Given the description of an element on the screen output the (x, y) to click on. 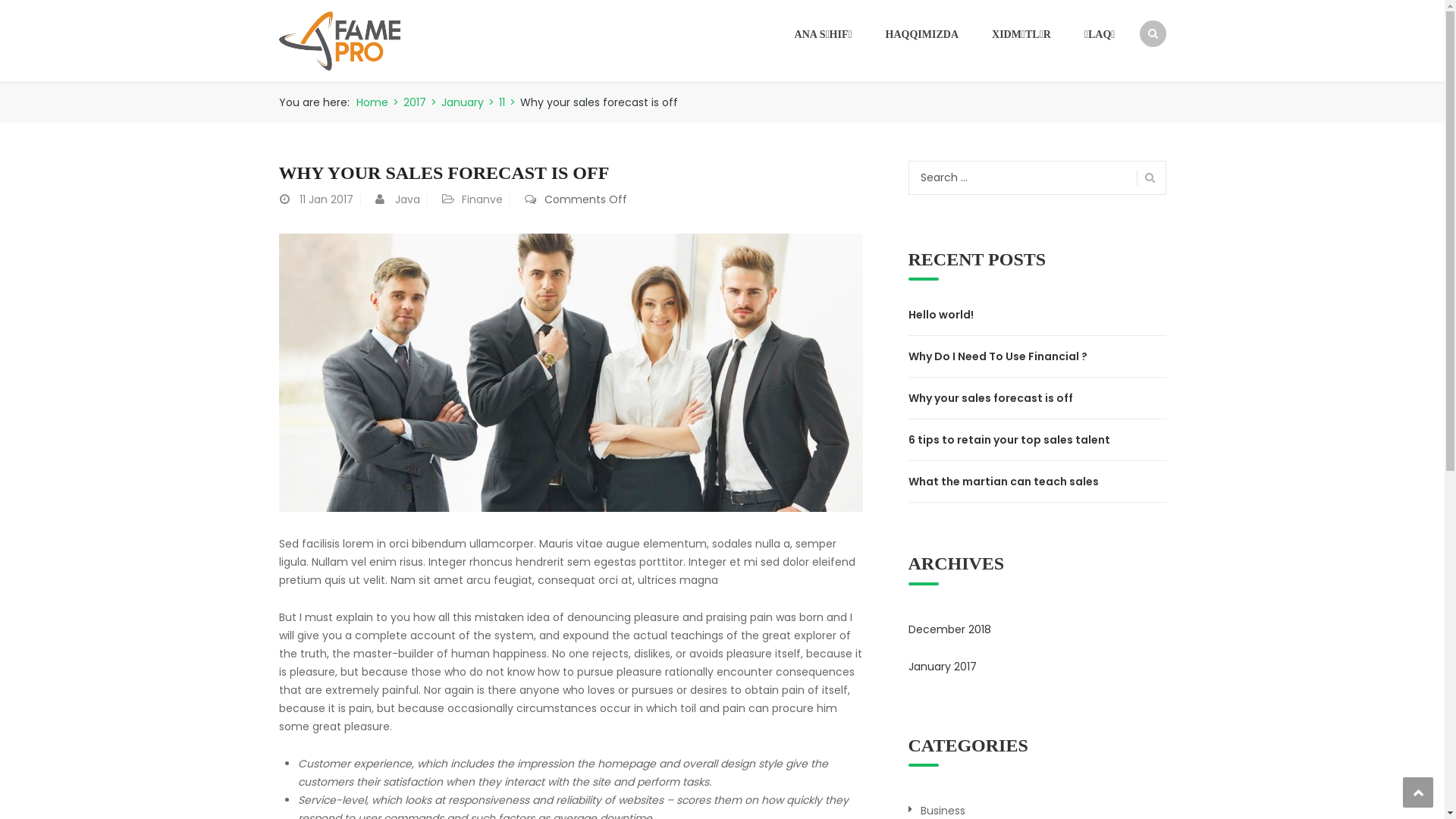
Search Element type: text (1144, 177)
11 Jan 2017 Element type: text (325, 199)
11 Element type: text (501, 101)
January Element type: text (462, 101)
December 2018 Element type: text (949, 629)
6 tips to retain your top sales talent Element type: text (1037, 439)
What the martian can teach sales Element type: text (1037, 481)
Why Do I Need To Use Financial ? Element type: text (1037, 356)
Hello world! Element type: text (1037, 314)
Business Element type: text (942, 810)
Java Element type: text (406, 199)
2017 Element type: text (414, 101)
Fame Pro Element type: hover (339, 39)
January 2017 Element type: text (942, 666)
Home Element type: text (372, 101)
Search Element type: text (1144, 92)
HAQQIMIZDA Element type: text (921, 34)
Finanve Element type: text (481, 199)
Why your sales forecast is off Element type: text (1037, 398)
